Given the description of an element on the screen output the (x, y) to click on. 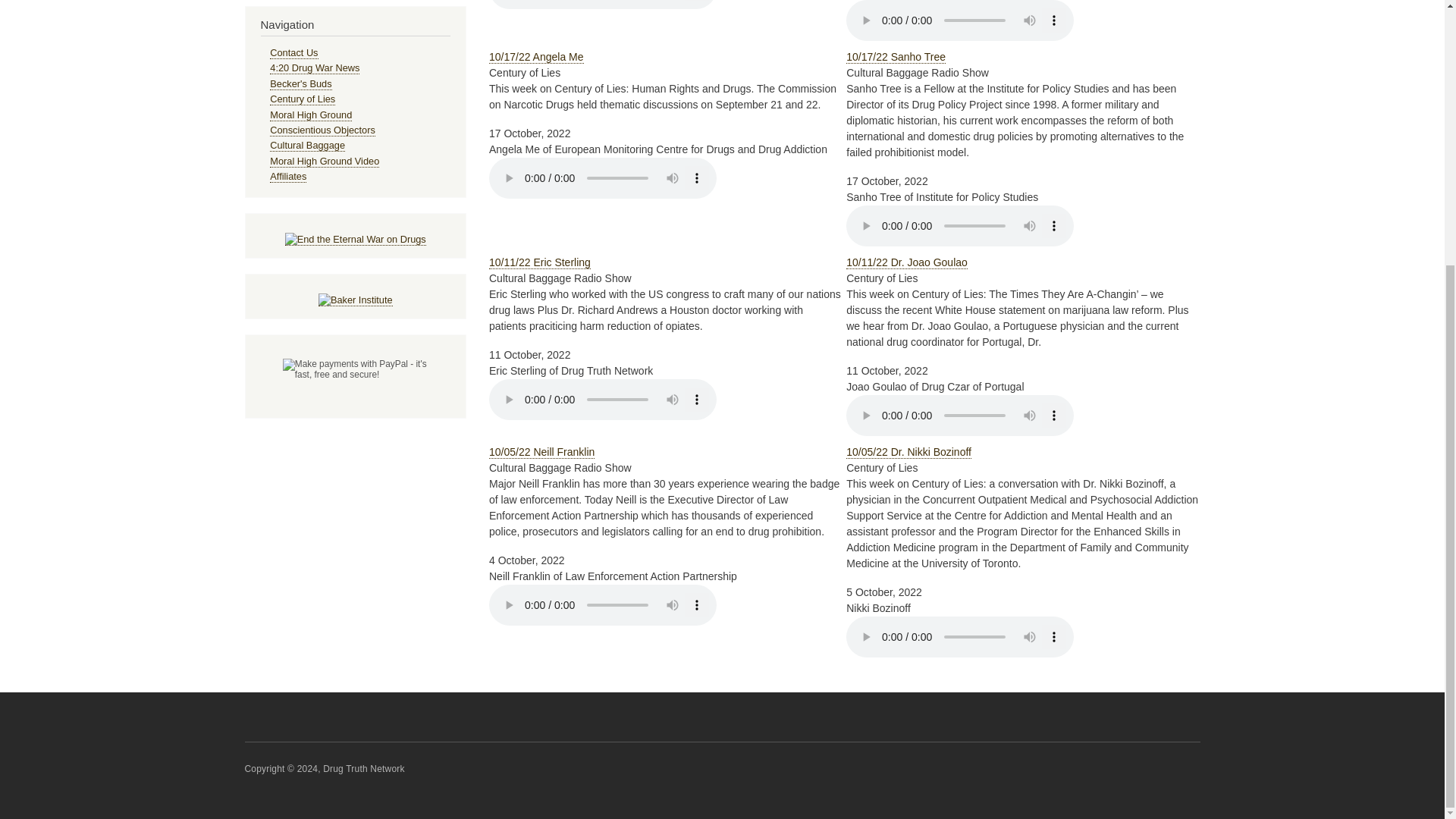
Contact the Drug Truth Network (293, 52)
Contact Us (293, 52)
Moral High Ground (310, 114)
Cultural Baggage (307, 145)
Century of Lies (301, 99)
Becker's Buds (300, 83)
Moral High Ground Video (323, 161)
Radio broadcasting affiliates (287, 176)
Claiming the Moral High Ground Video (323, 161)
Becker's Buds Video Interviews (300, 83)
Conscientious Objectors (322, 130)
Affiliates (287, 176)
Century of Lies (301, 99)
Cultural Baggage Radio Show (307, 145)
4:20 Drug War News (314, 68)
